Given the description of an element on the screen output the (x, y) to click on. 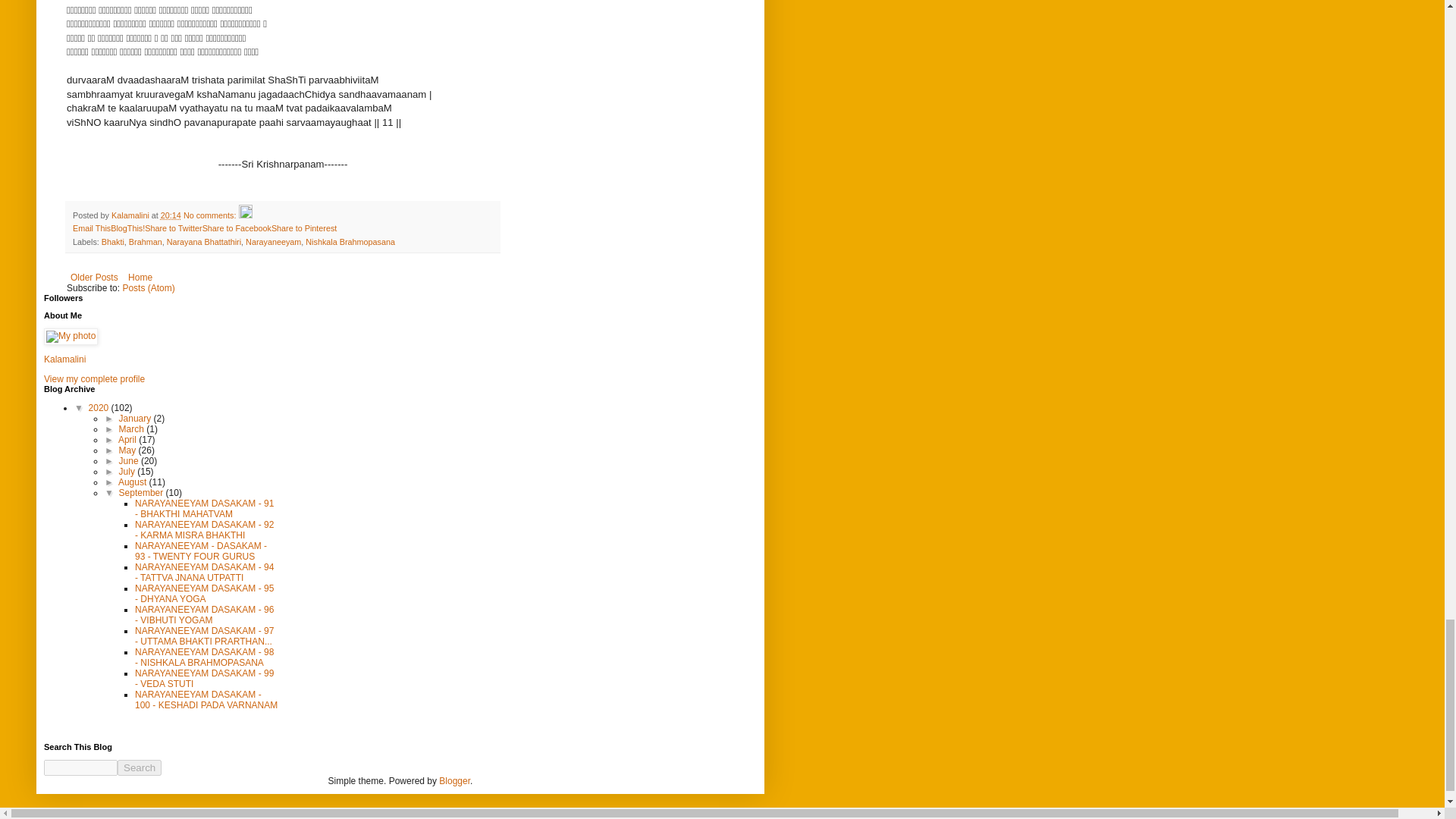
Kalamalini (131, 215)
permanent link (170, 215)
Narayaneeyam (273, 241)
Share to Twitter (173, 227)
BlogThis! (127, 227)
Search (139, 767)
Email This (91, 227)
Edit Post (244, 215)
search (80, 767)
author profile (131, 215)
Kalamalini (64, 358)
View my complete profile (93, 378)
Narayana Bhattathiri (204, 241)
search (139, 767)
2020 (100, 407)
